Given the description of an element on the screen output the (x, y) to click on. 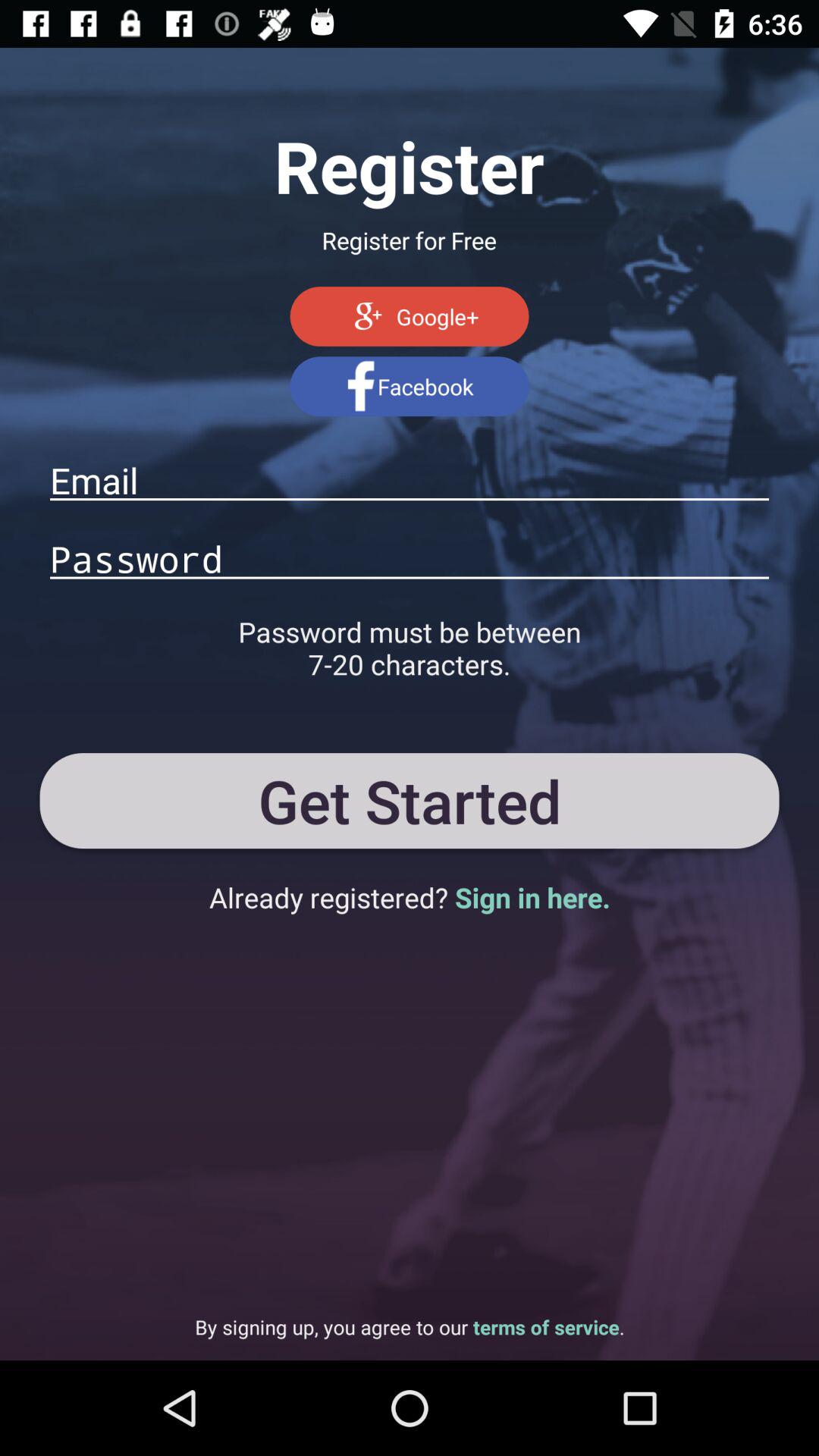
press the already registered sign app (409, 897)
